Given the description of an element on the screen output the (x, y) to click on. 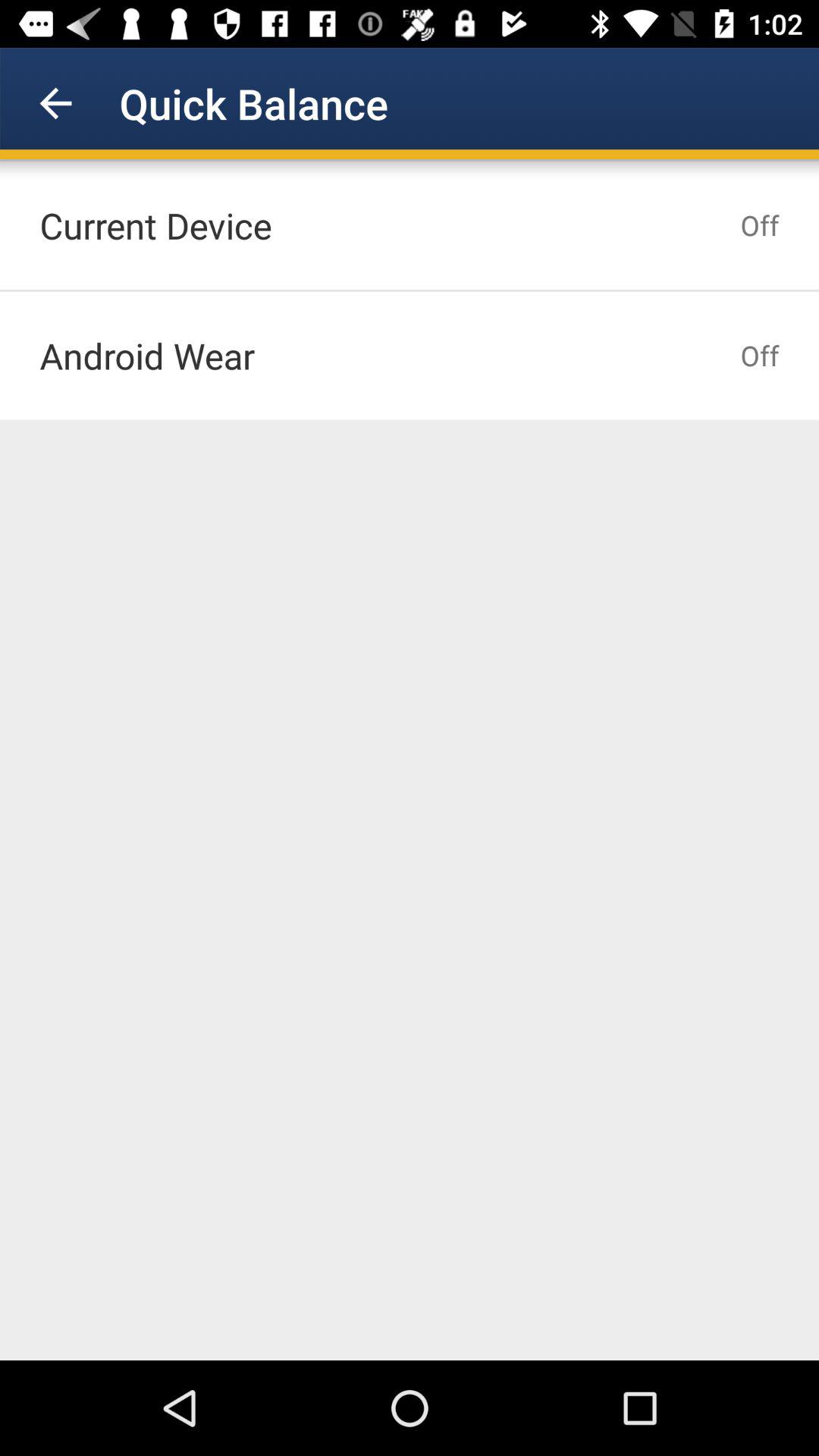
choose app to the left of the quick balance icon (55, 103)
